Given the description of an element on the screen output the (x, y) to click on. 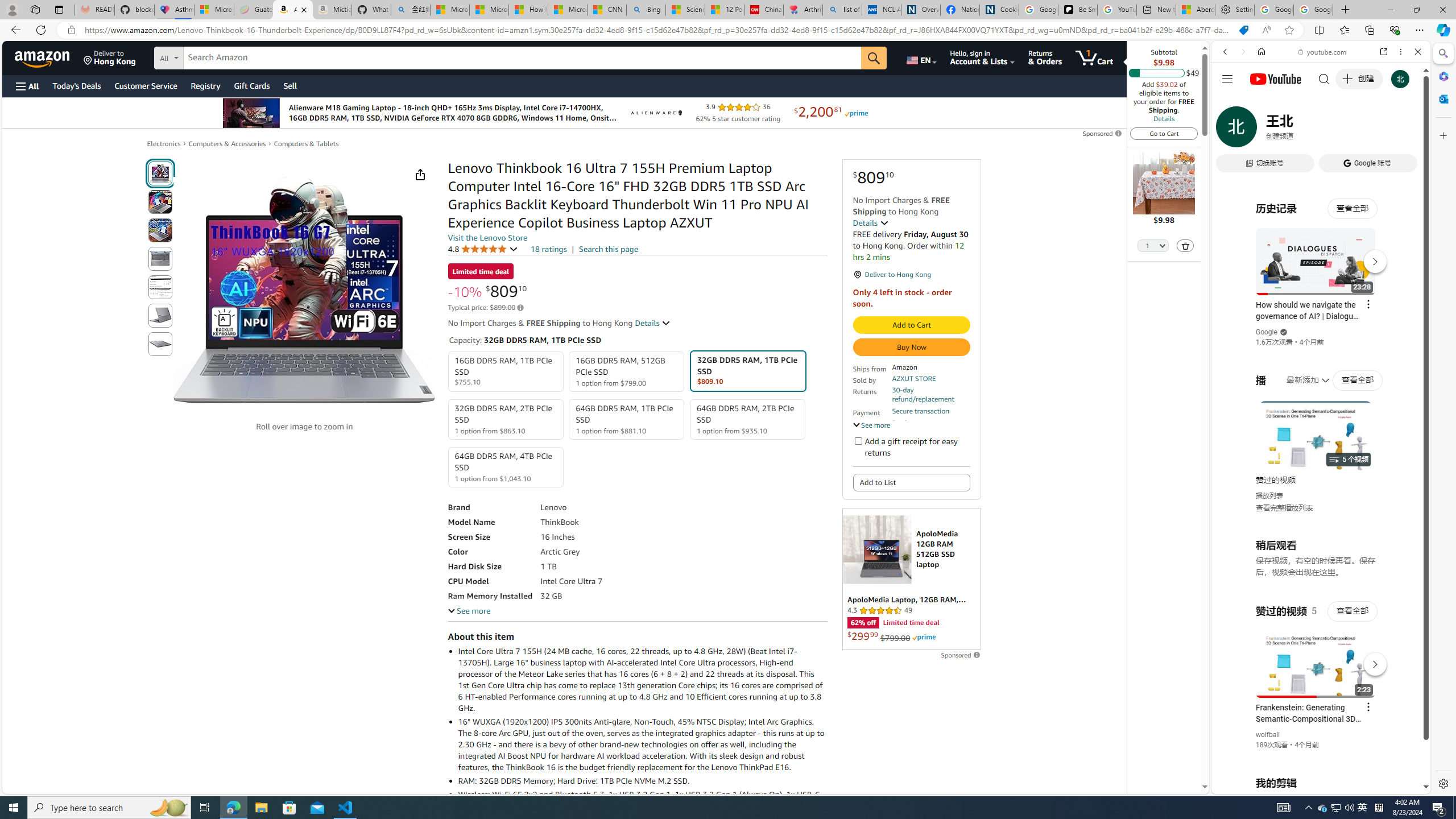
Global web icon (1232, 655)
Search this page (608, 248)
US[ju] (1249, 785)
Search videos from youtube.com (1299, 373)
Add a gift receipt for easy returns (857, 440)
SEARCH TOOLS (1350, 130)
Visit the Lenovo Store (486, 237)
Delete (1185, 245)
Minimize (1390, 9)
Go to Cart (1163, 133)
Trailer #2 [HD] (1320, 336)
Cookies (999, 9)
